Given the description of an element on the screen output the (x, y) to click on. 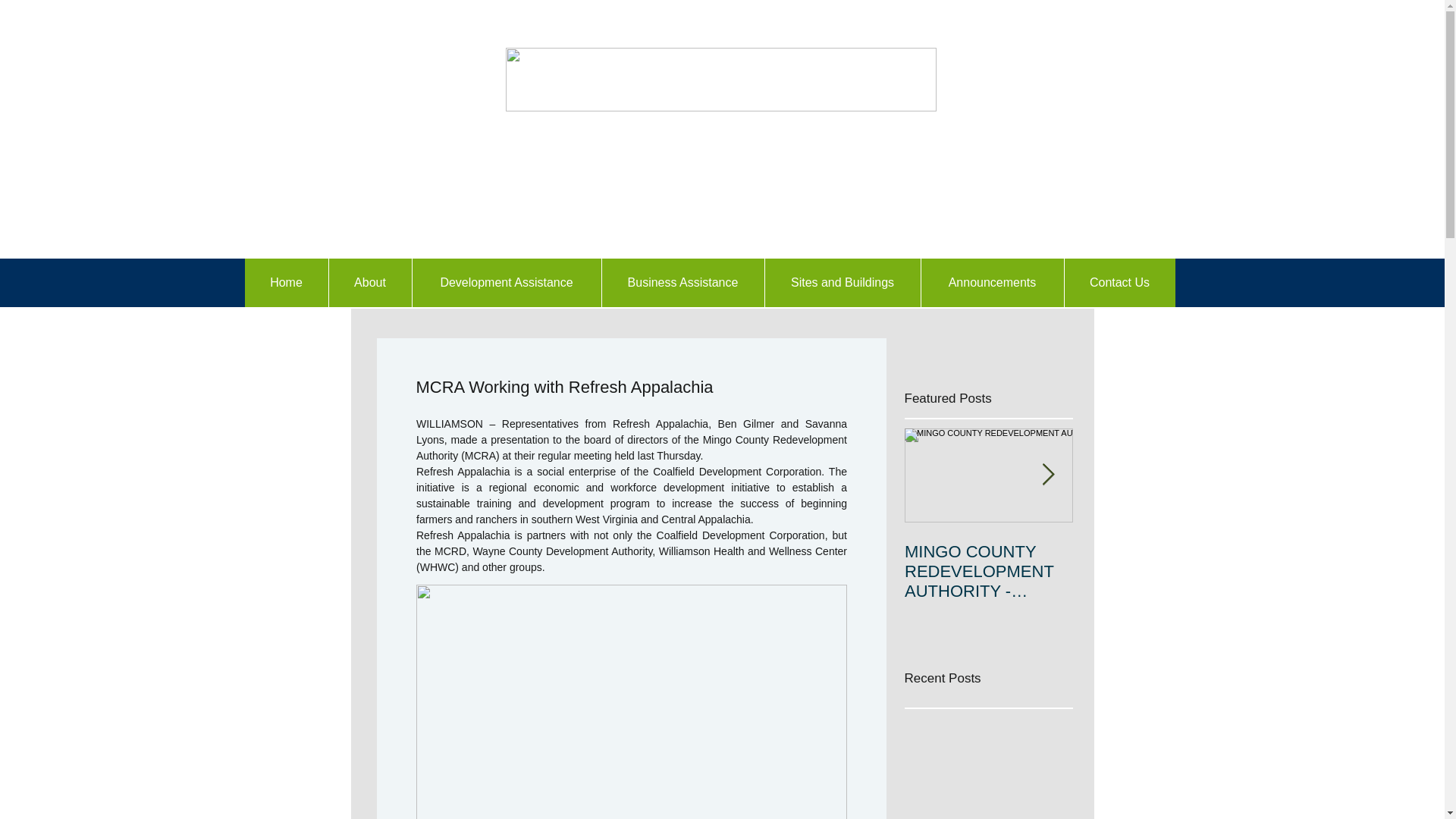
Business Assistance (680, 282)
Home (285, 282)
About (368, 282)
Contact Us (1118, 282)
Sites and Buildings (842, 282)
MINGO COUNTY REDEVELOPMENT AUTHORITY - REQUEST FOR PROPSALS (987, 571)
Announcements (992, 282)
Development Assistance (504, 282)
